Given the description of an element on the screen output the (x, y) to click on. 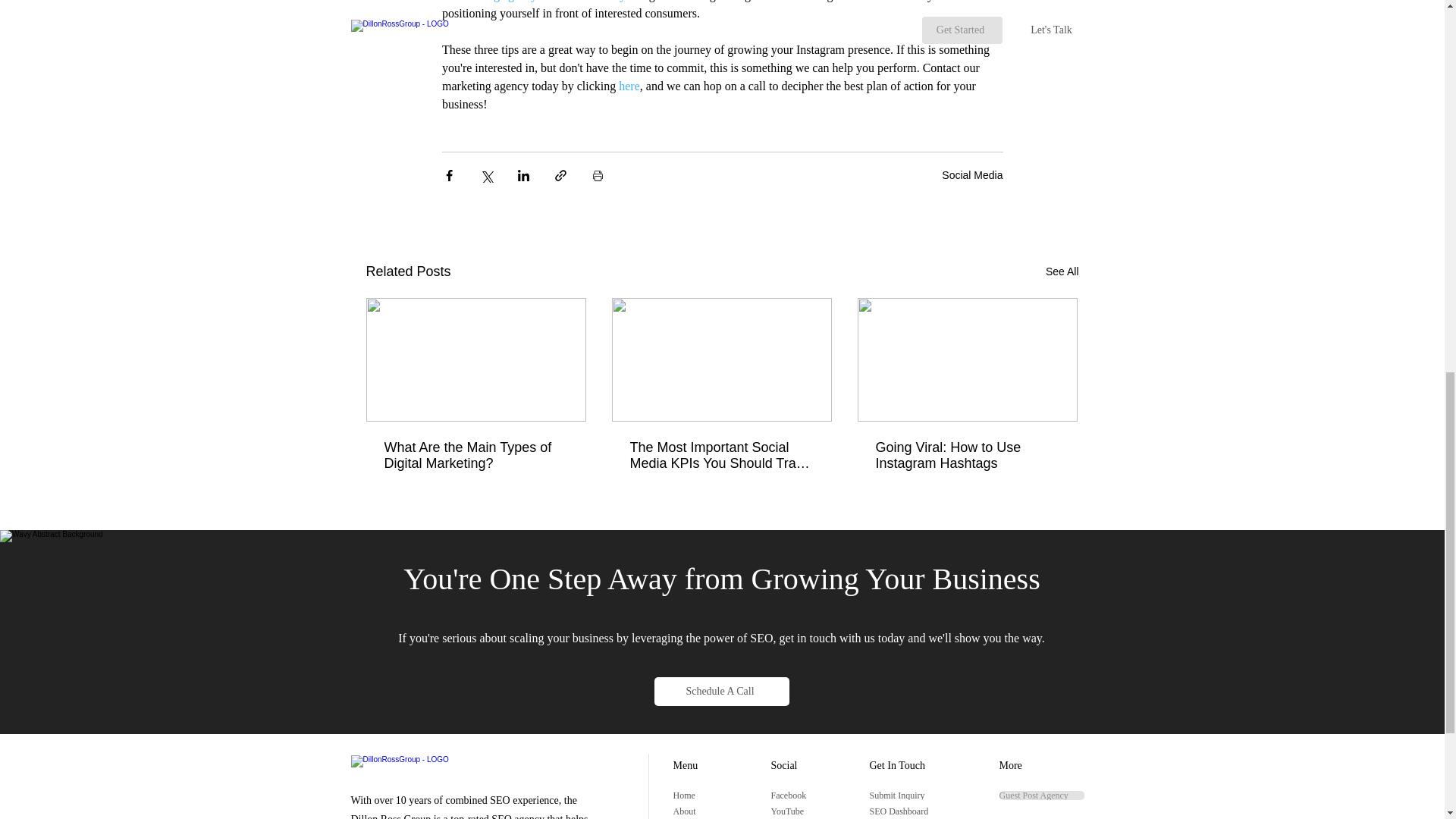
Social Media (972, 174)
See All (1061, 271)
here (629, 85)
What Are the Main Types of Digital Marketing? (475, 455)
